Given the description of an element on the screen output the (x, y) to click on. 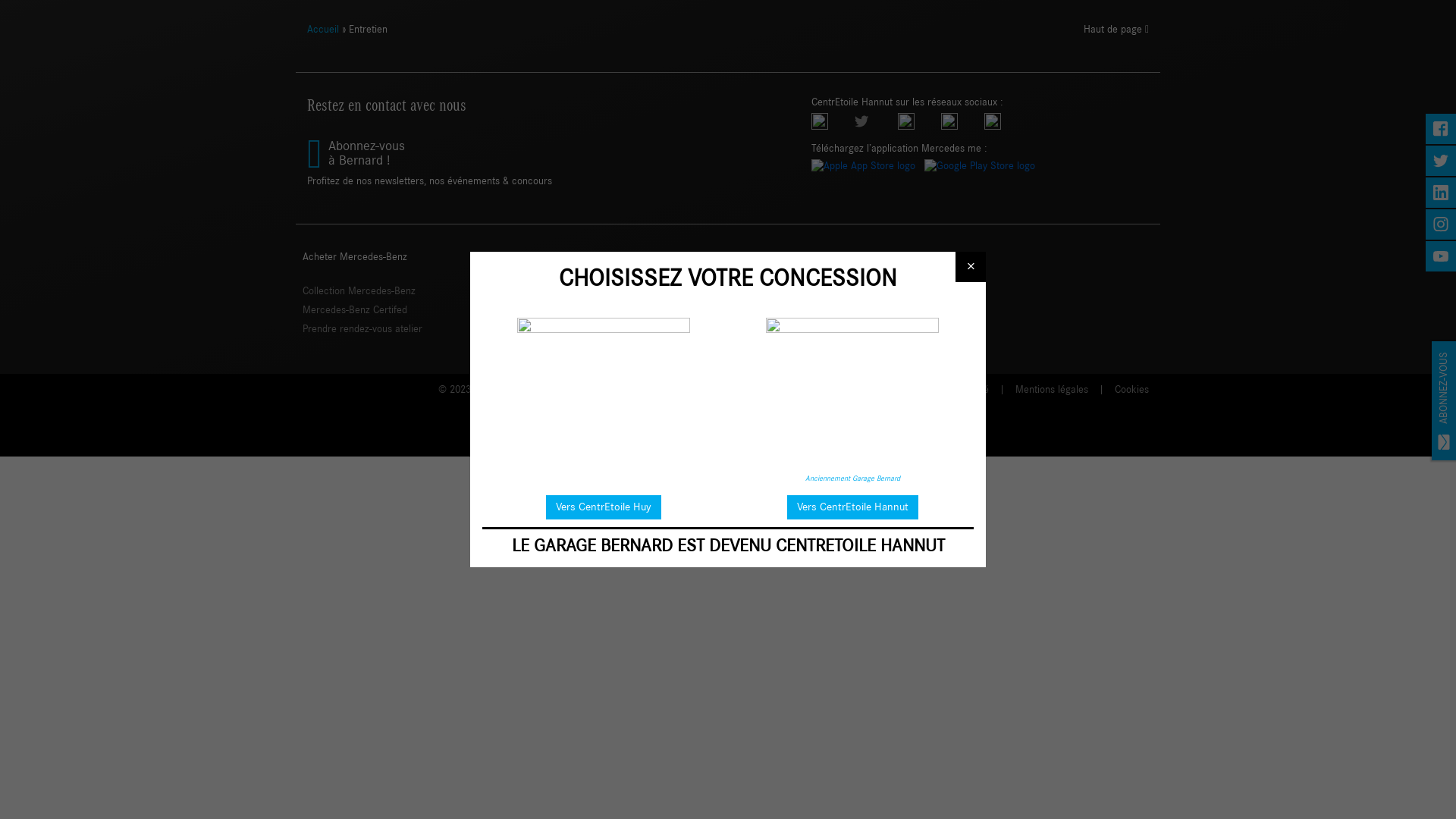
Vers CentrEtoile Huy Element type: text (603, 443)
Haut de page Element type: text (1115, 35)
Eteamsys Element type: text (813, 389)
Anciennement Garage Bernard
Vers CentrEtoile Hannut Element type: text (852, 447)
Prendre rendez-vous atelier Element type: text (362, 328)
Mercedes-Benz Certifed Element type: text (354, 309)
Collection Mercedes-Benz Element type: text (358, 290)
Cookies Element type: text (1131, 389)
Accueil Element type: text (322, 29)
